Given the description of an element on the screen output the (x, y) to click on. 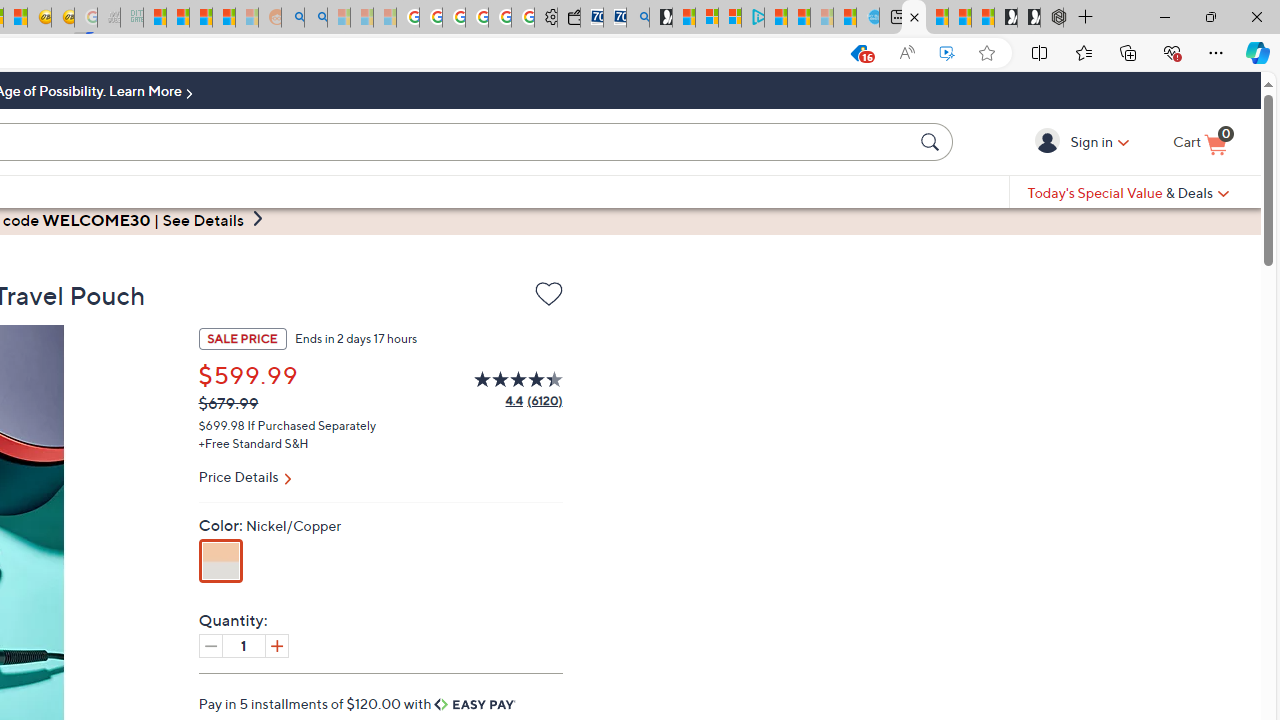
Nordace - Nordace Siena Is Not An Ordinary Backpack (1051, 17)
Microsoft Start Gaming (660, 17)
Home | Sky Blue Bikes - Sky Blue Bikes (867, 17)
Increase quantity by 1 (276, 645)
Cart is Empty  (1199, 143)
Add to Wish List (548, 297)
Sign in (1049, 141)
Quantity (243, 645)
